Given the description of an element on the screen output the (x, y) to click on. 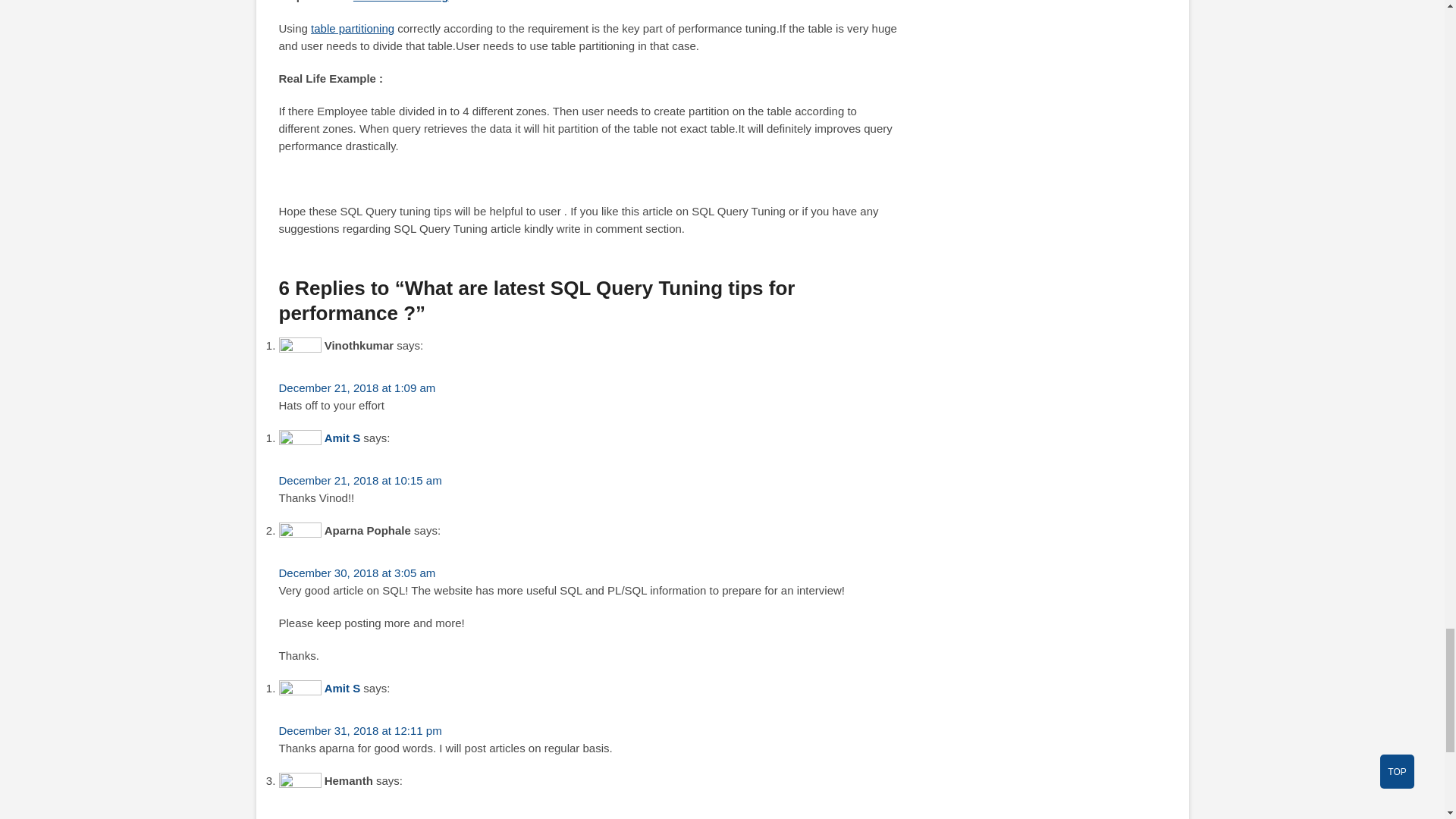
Amit S (342, 437)
Amit S (342, 687)
Table Partitioning (400, 1)
April 23, 2019 at 7:07 pm (342, 817)
December 30, 2018 at 3:05 am (357, 572)
table partitioning (352, 28)
December 21, 2018 at 10:15 am (360, 480)
December 31, 2018 at 12:11 pm (360, 730)
December 21, 2018 at 1:09 am (357, 387)
